Given the description of an element on the screen output the (x, y) to click on. 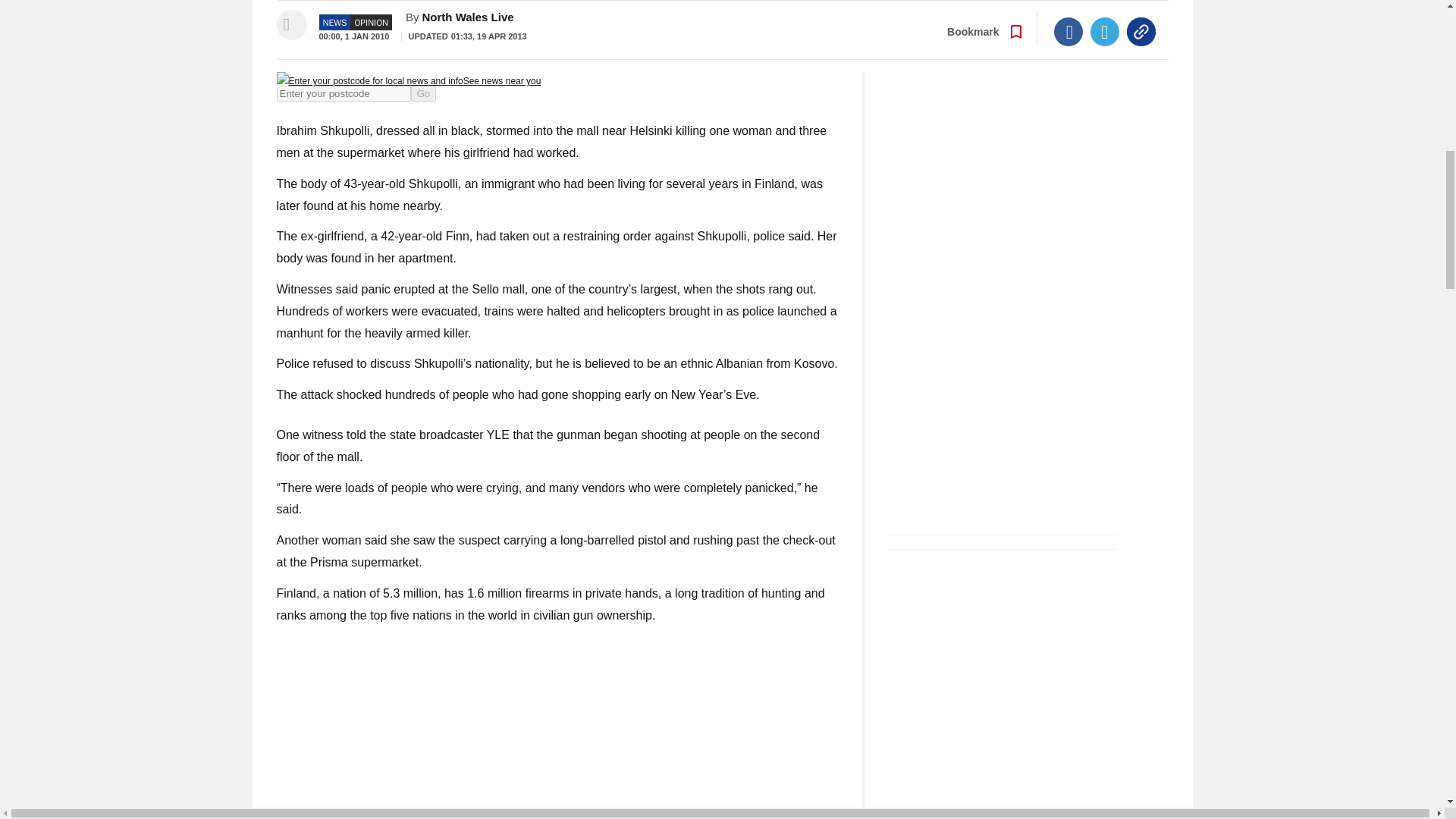
Twitter (1104, 26)
Go (423, 93)
Facebook (1068, 26)
